Given the description of an element on the screen output the (x, y) to click on. 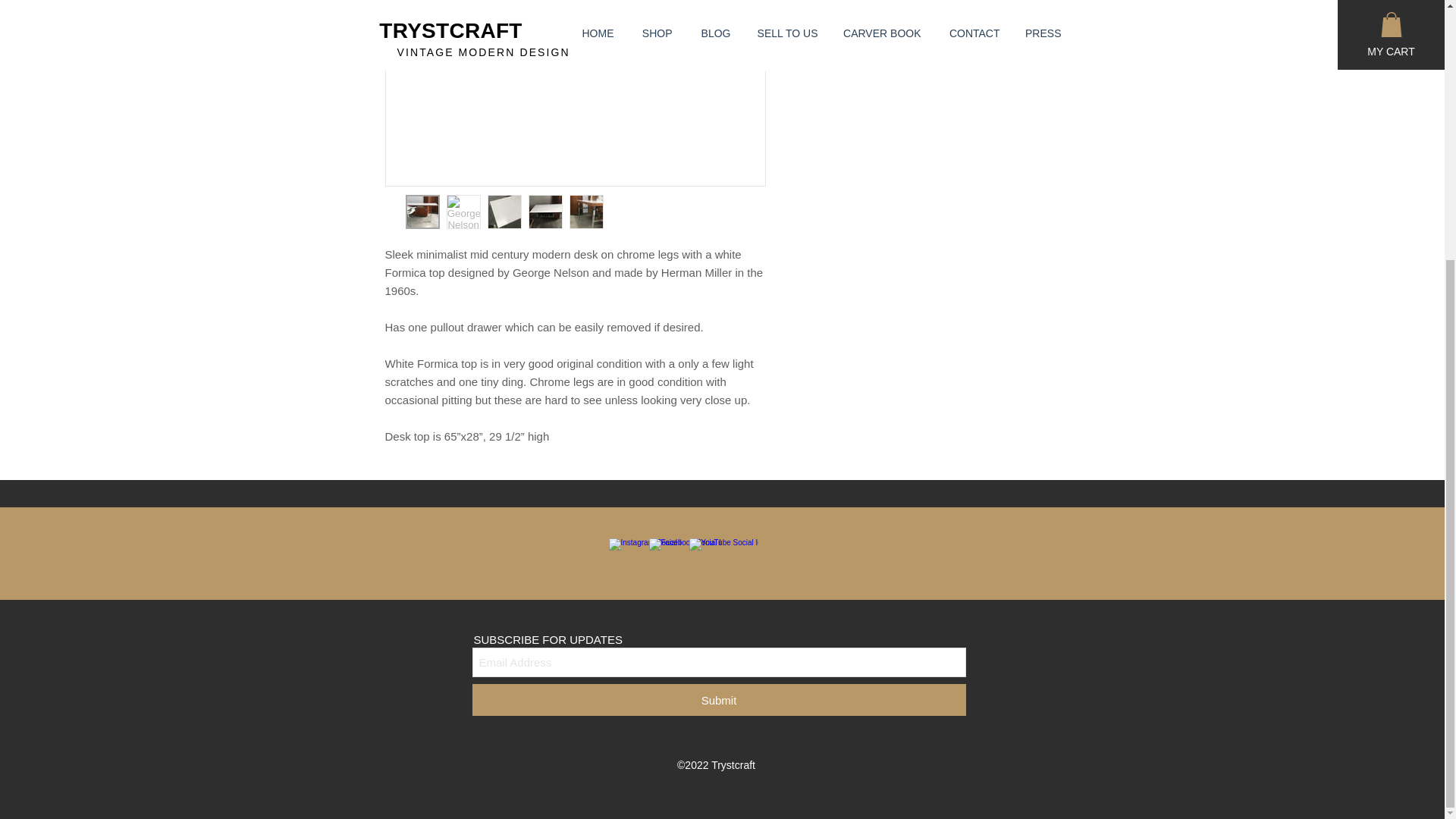
Submit (718, 699)
